Given the description of an element on the screen output the (x, y) to click on. 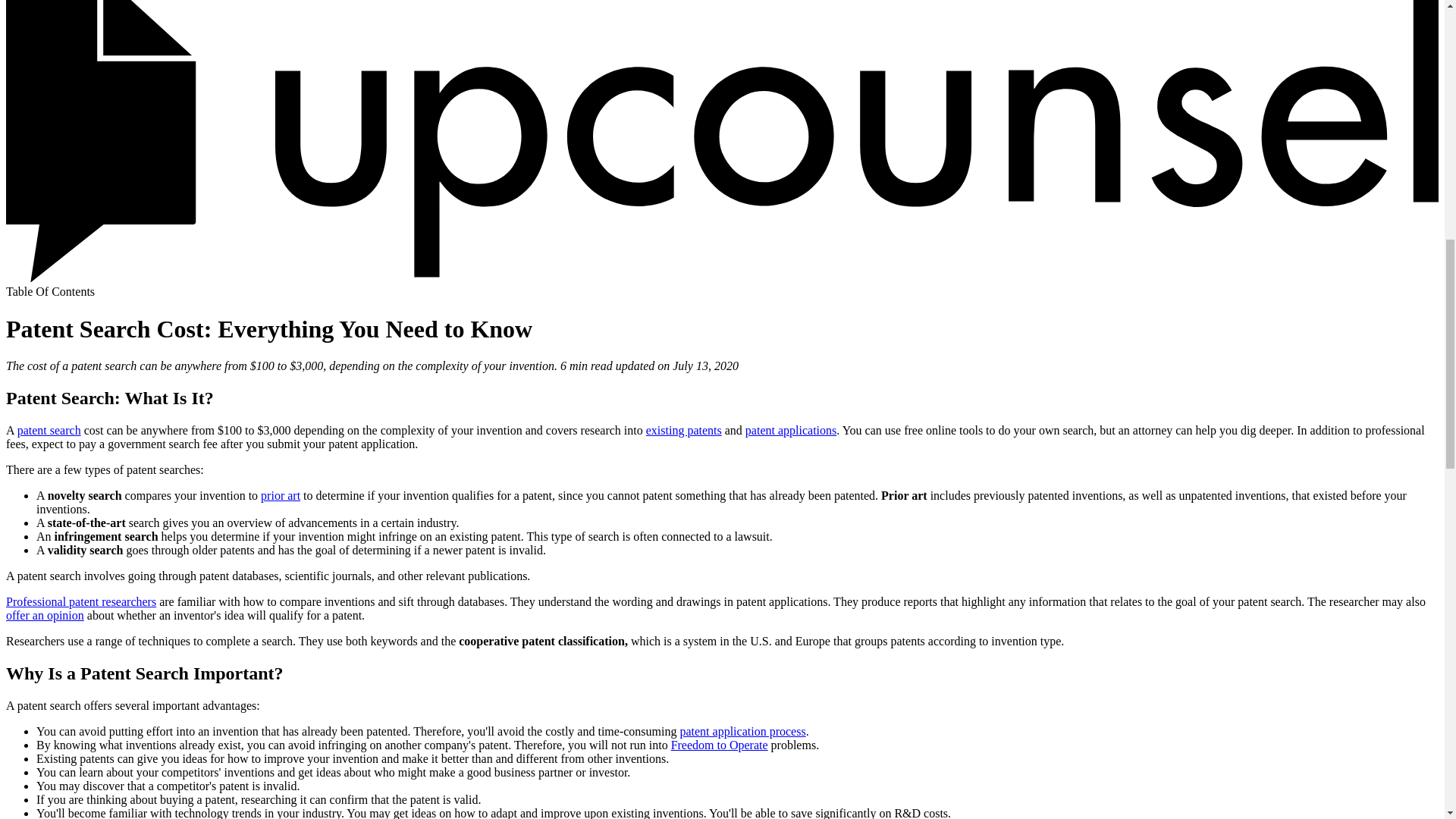
prior art (279, 495)
Professional patent researchers (80, 601)
patent applications (790, 430)
patent search (49, 430)
Freedom to Operate (719, 744)
patent application process (742, 730)
existing patents (684, 430)
offer an opinion (44, 615)
